Given the description of an element on the screen output the (x, y) to click on. 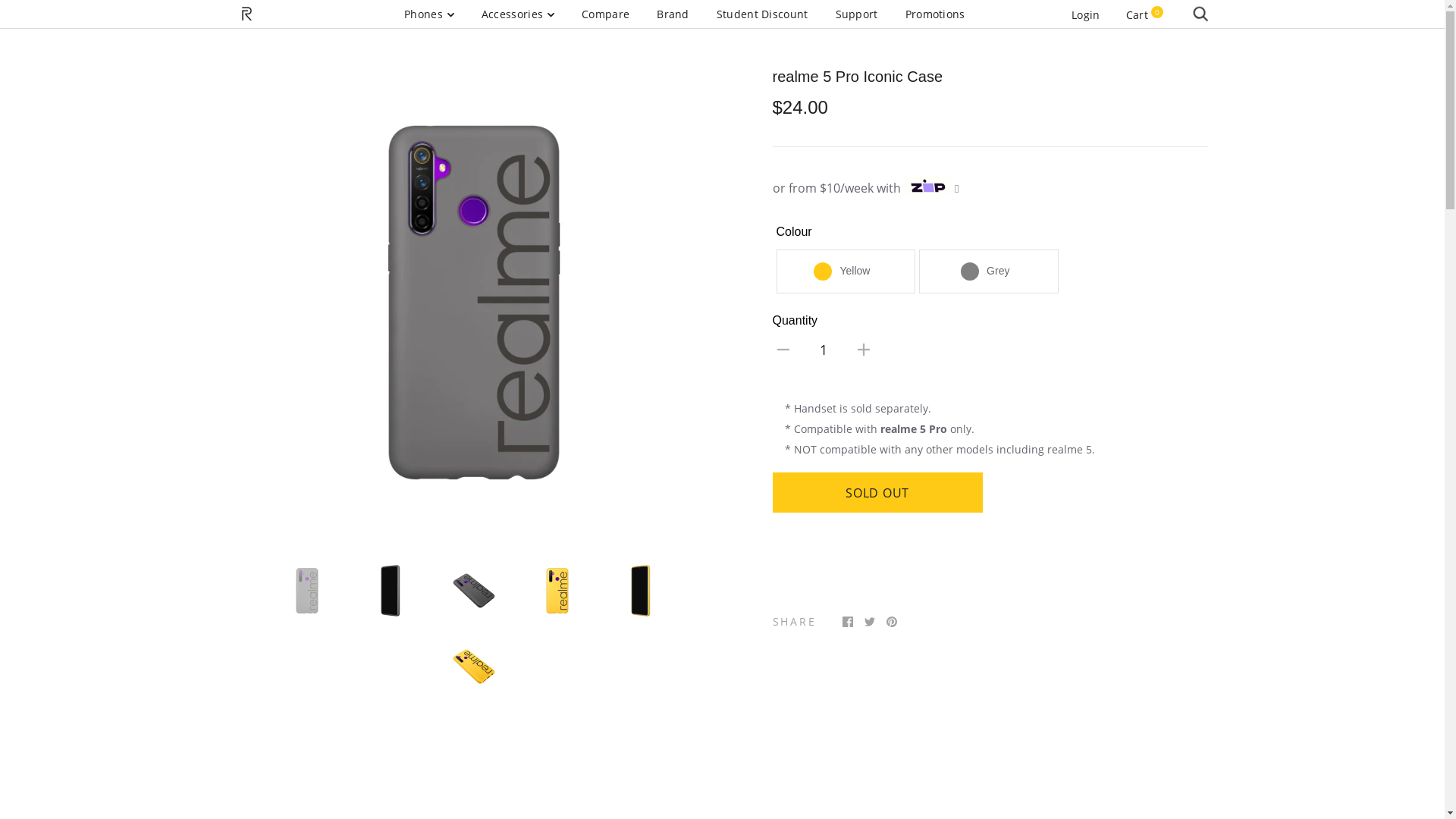
Brand Element type: text (672, 13)
SOLD OUT Element type: text (876, 492)
Support Element type: text (856, 13)
Decrease quantity by 1 Element type: hover (782, 348)
Promotions Element type: text (935, 13)
Cart 0 Element type: text (1145, 14)
Increase quantity by 1 Element type: hover (862, 348)
Accessories Element type: text (517, 13)
Compare Element type: text (605, 13)
Student Discount Element type: text (762, 13)
Phones Element type: text (429, 13)
Login Element type: text (1085, 14)
